Given the description of an element on the screen output the (x, y) to click on. 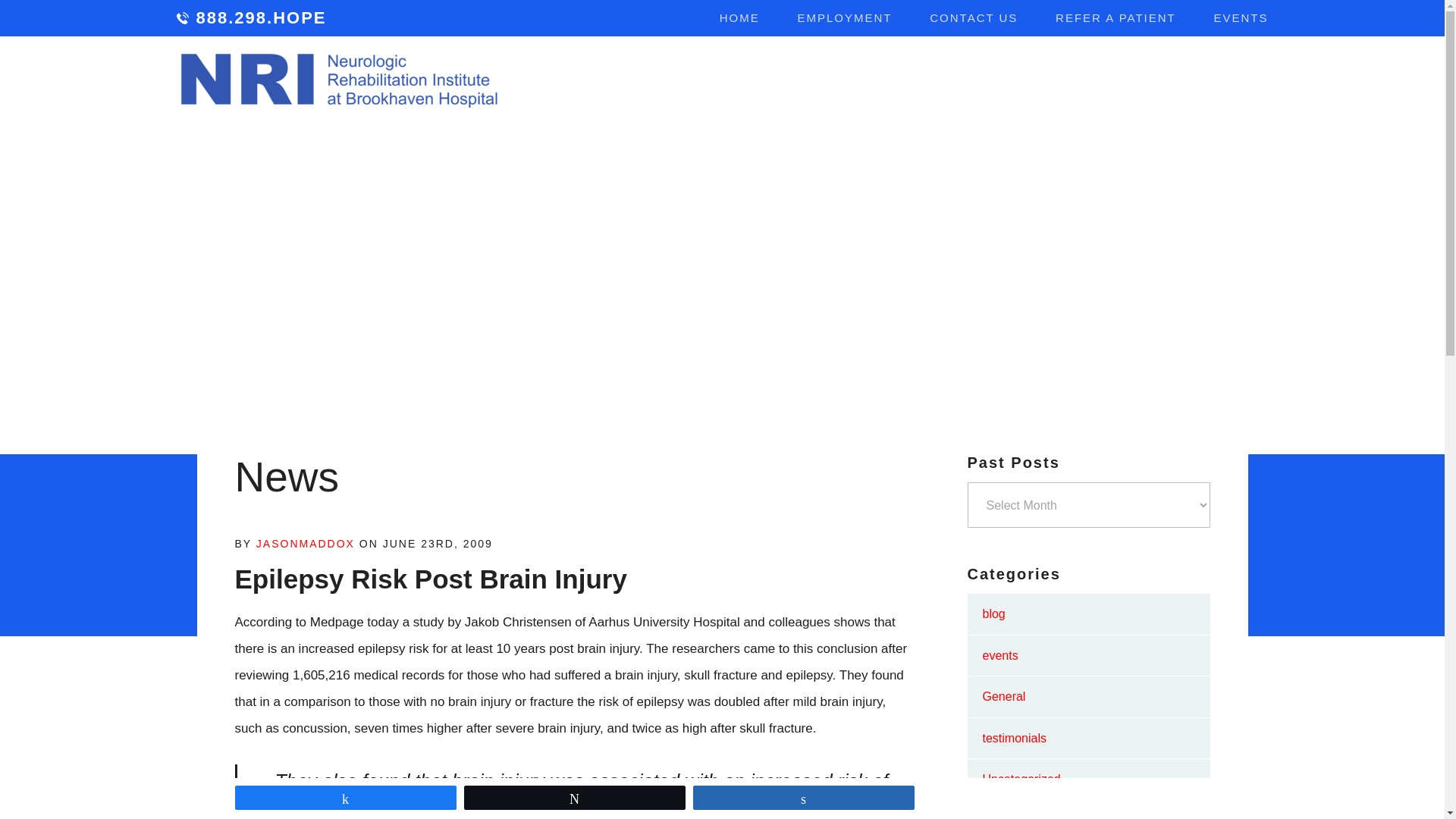
HOME (739, 17)
CONTACT US (973, 17)
Go (1245, 79)
ABOUT US (654, 80)
REFER A PATIENT (1115, 17)
EMPLOYMENT (844, 17)
ADMISSIONS PROCESS (1134, 80)
Posts by jasonmaddox (305, 542)
888.298.HOPE (251, 18)
PROGRAMS (770, 80)
EVENTS (1240, 17)
